Given the description of an element on the screen output the (x, y) to click on. 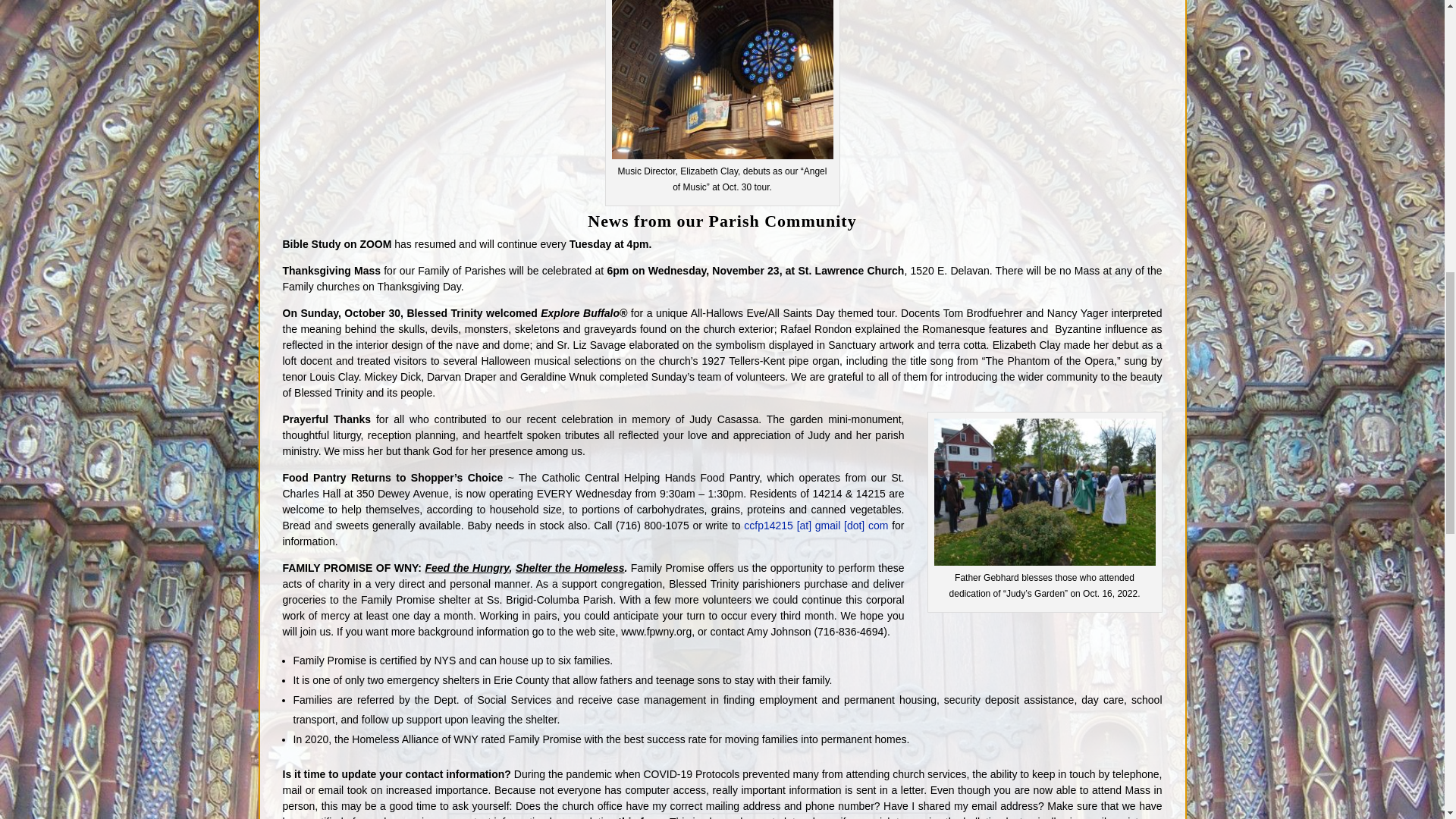
this form (640, 817)
www.fpwny.org (656, 631)
